Given the description of an element on the screen output the (x, y) to click on. 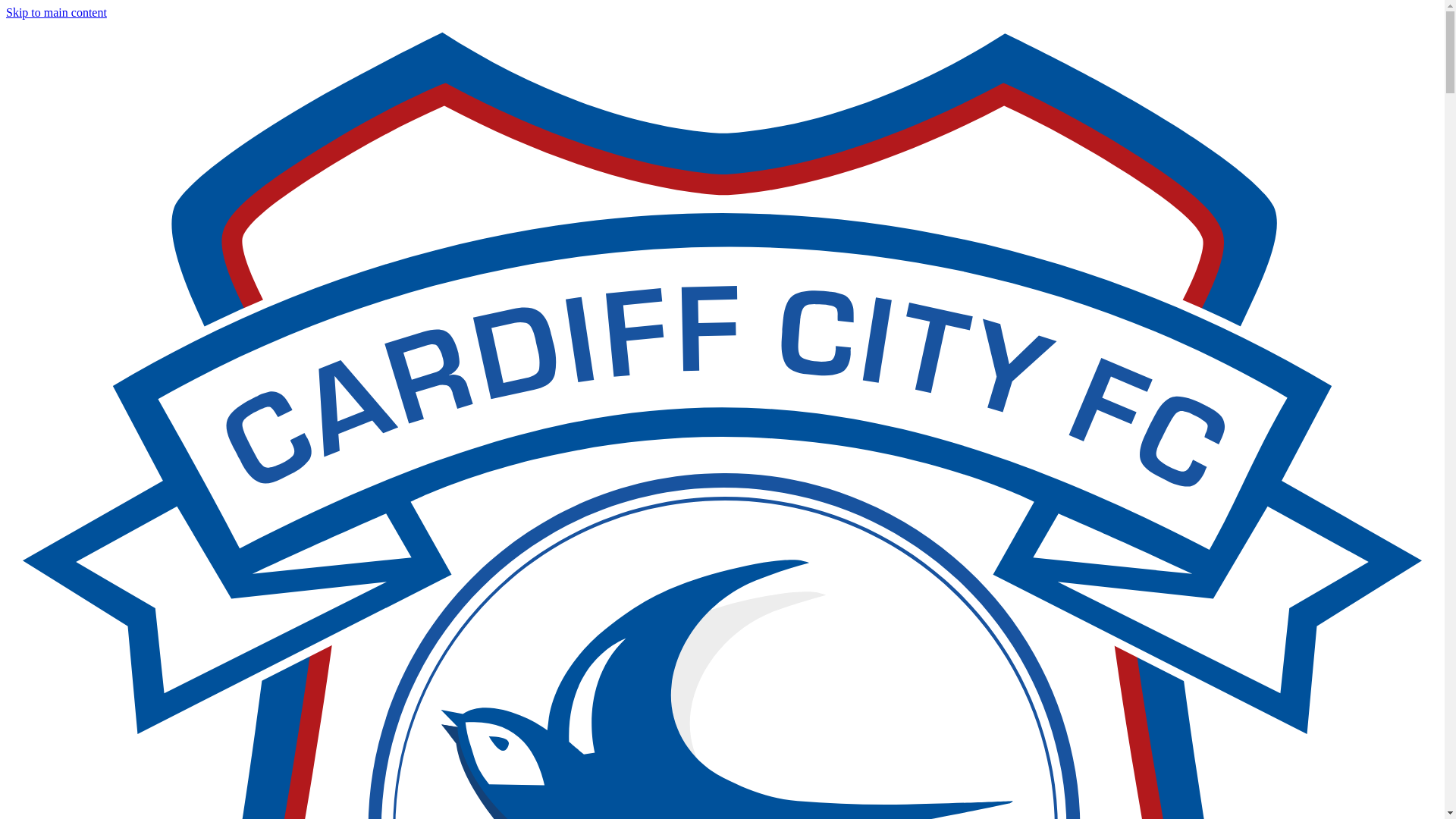
Skip to main content (55, 11)
